Given the description of an element on the screen output the (x, y) to click on. 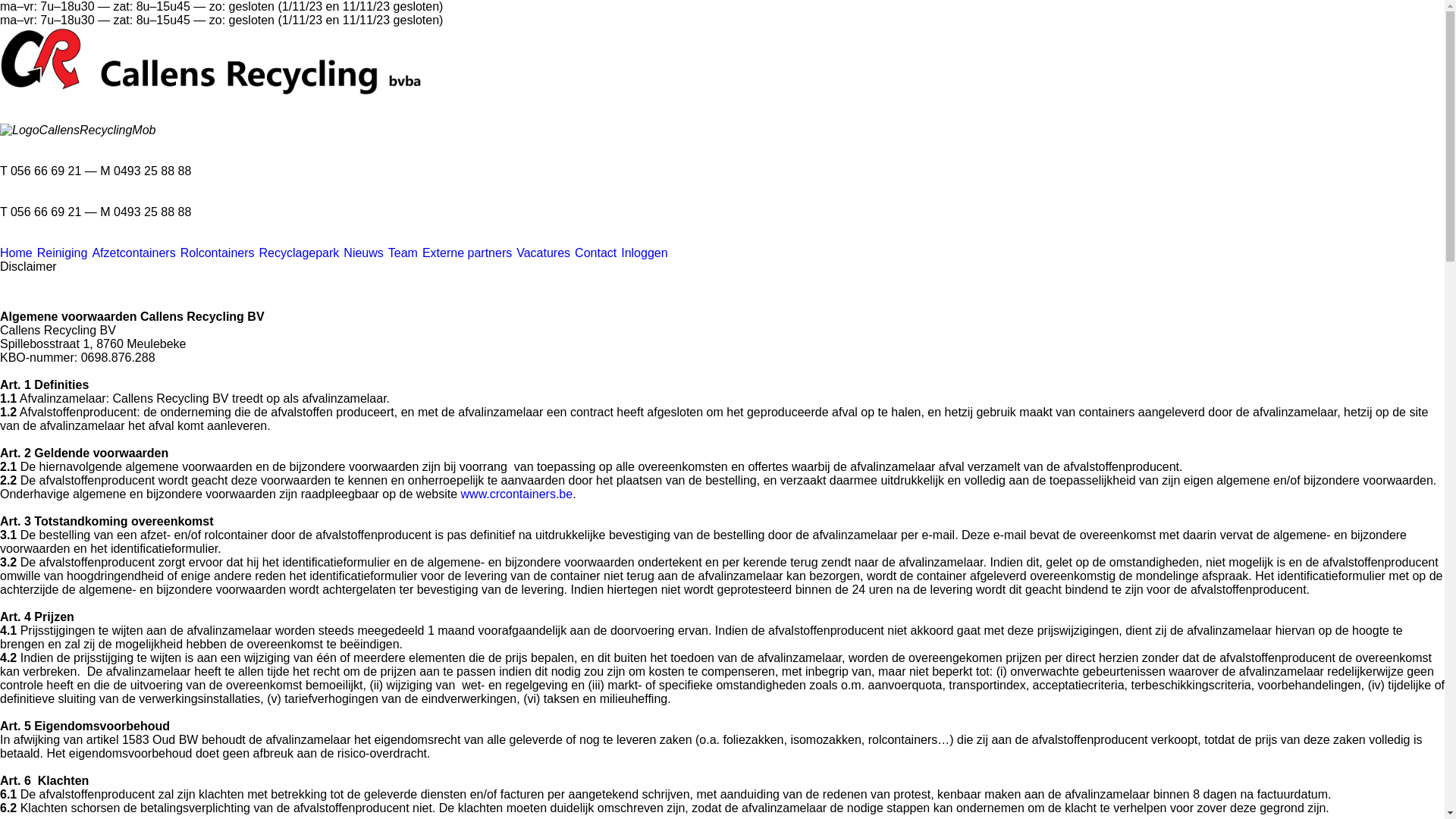
Recyclagepark Element type: text (299, 253)
Rolcontainers Element type: text (217, 253)
www.crcontainers.be Element type: text (517, 493)
Afzetcontainers Element type: text (133, 253)
Contact Element type: text (595, 253)
Team Element type: text (402, 253)
Reiniging Element type: text (62, 253)
Vacatures Element type: text (543, 253)
Inloggen Element type: text (644, 253)
Nieuws Element type: text (362, 253)
Externe partners Element type: text (466, 253)
Home Element type: text (16, 253)
